Given the description of an element on the screen output the (x, y) to click on. 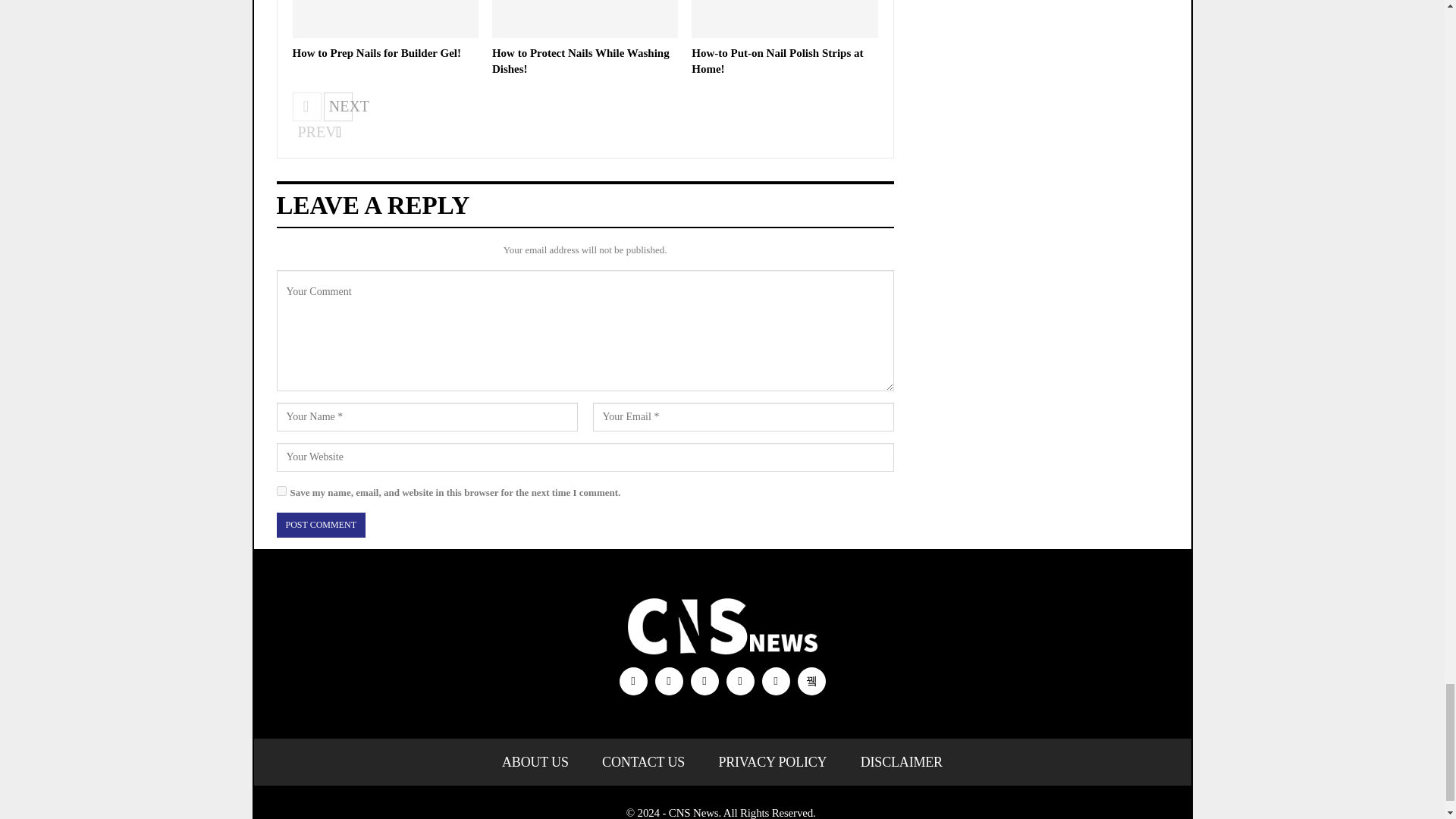
Post Comment (320, 524)
How to Protect Nails While Washing Dishes! (580, 60)
How to Prep Nails for Builder Gel! (376, 52)
yes (280, 491)
How to Protect Nails While Washing Dishes! (585, 18)
How-to Put-on Nail Polish Strips at Home! (777, 60)
How to Prep Nails for Builder Gel! (385, 18)
How-to Put-on Nail Polish Strips at Home! (784, 18)
